Given the description of an element on the screen output the (x, y) to click on. 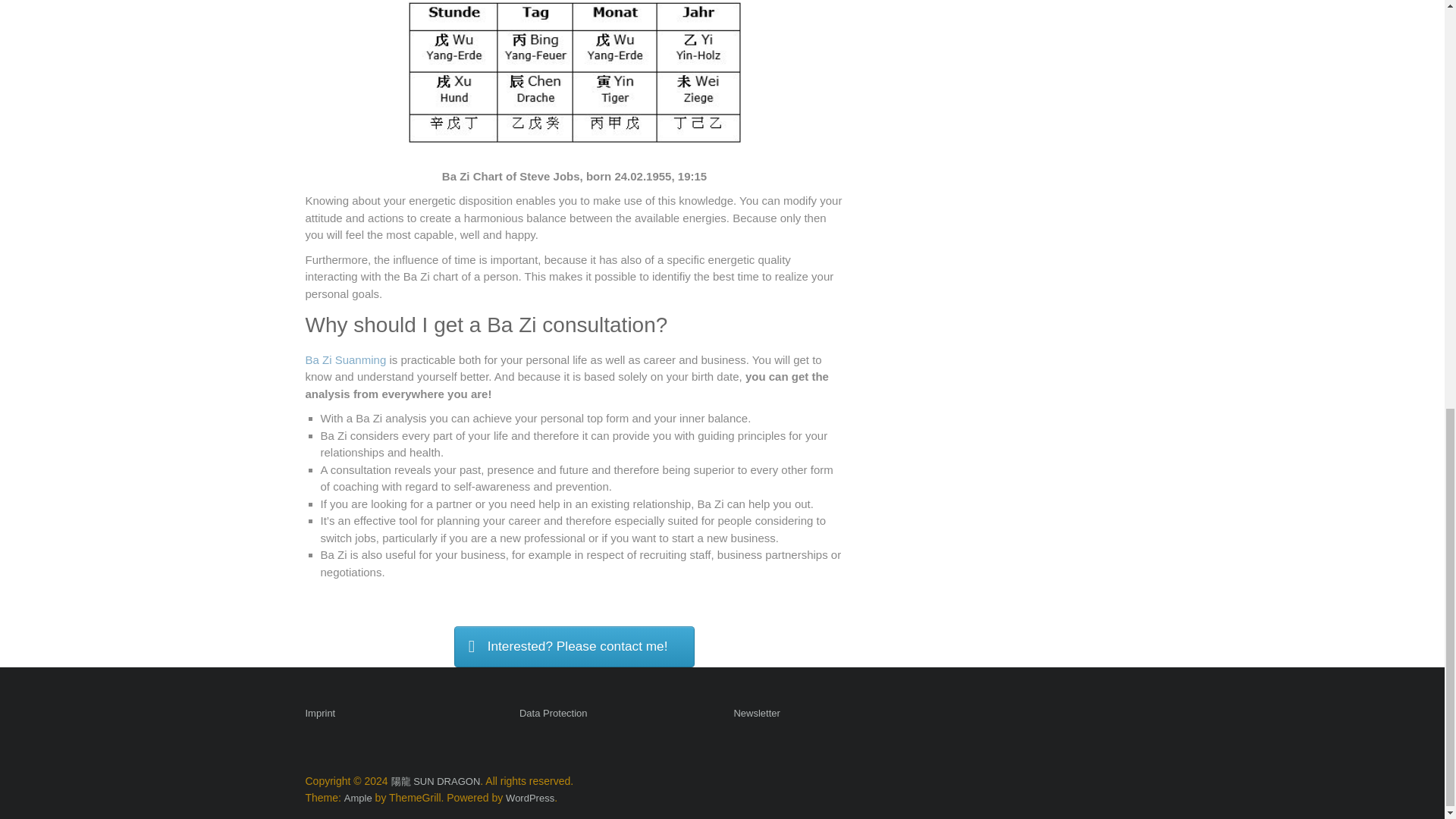
Interested? Please contact me! (574, 646)
Ample (357, 797)
Data Protection (553, 714)
Ba Zi Suanming (344, 359)
Ample (357, 797)
WordPress (529, 797)
Imprint (319, 714)
Newsletter (755, 714)
WordPress (529, 797)
